Given the description of an element on the screen output the (x, y) to click on. 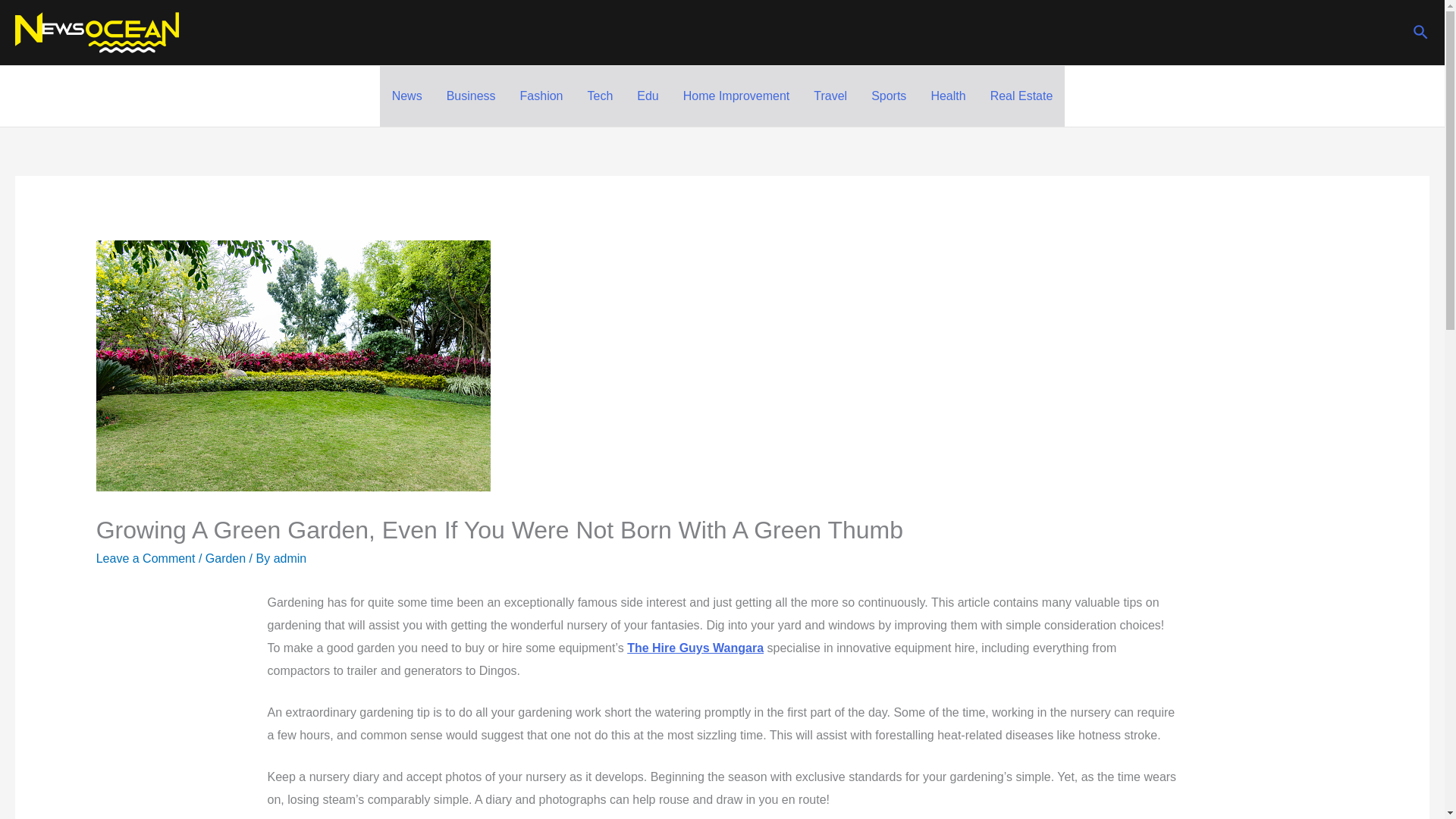
Leave a Comment (145, 558)
The Hire Guys Wangara (694, 647)
Fashion (541, 96)
News (406, 96)
Home Improvement (736, 96)
Travel (830, 96)
Sports (888, 96)
admin (290, 558)
Business (470, 96)
Real Estate (1021, 96)
